Given the description of an element on the screen output the (x, y) to click on. 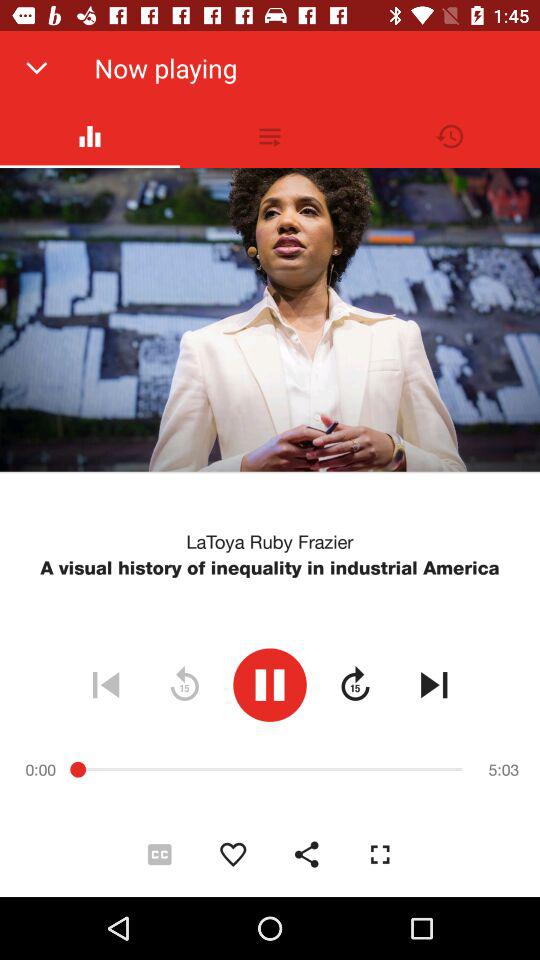
tap icon below a visual history icon (355, 684)
